Given the description of an element on the screen output the (x, y) to click on. 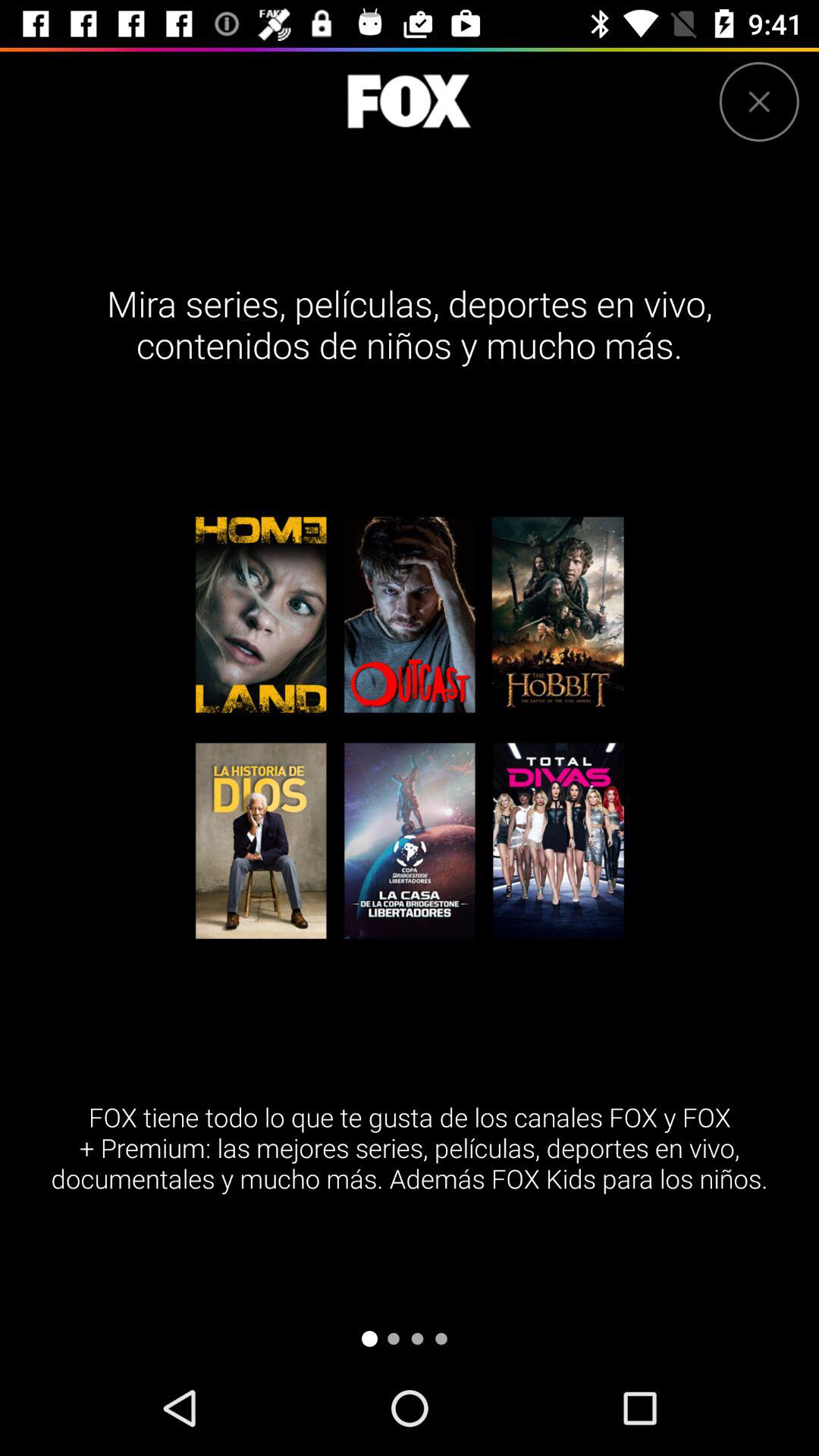
go to homepage (408, 101)
